Given the description of an element on the screen output the (x, y) to click on. 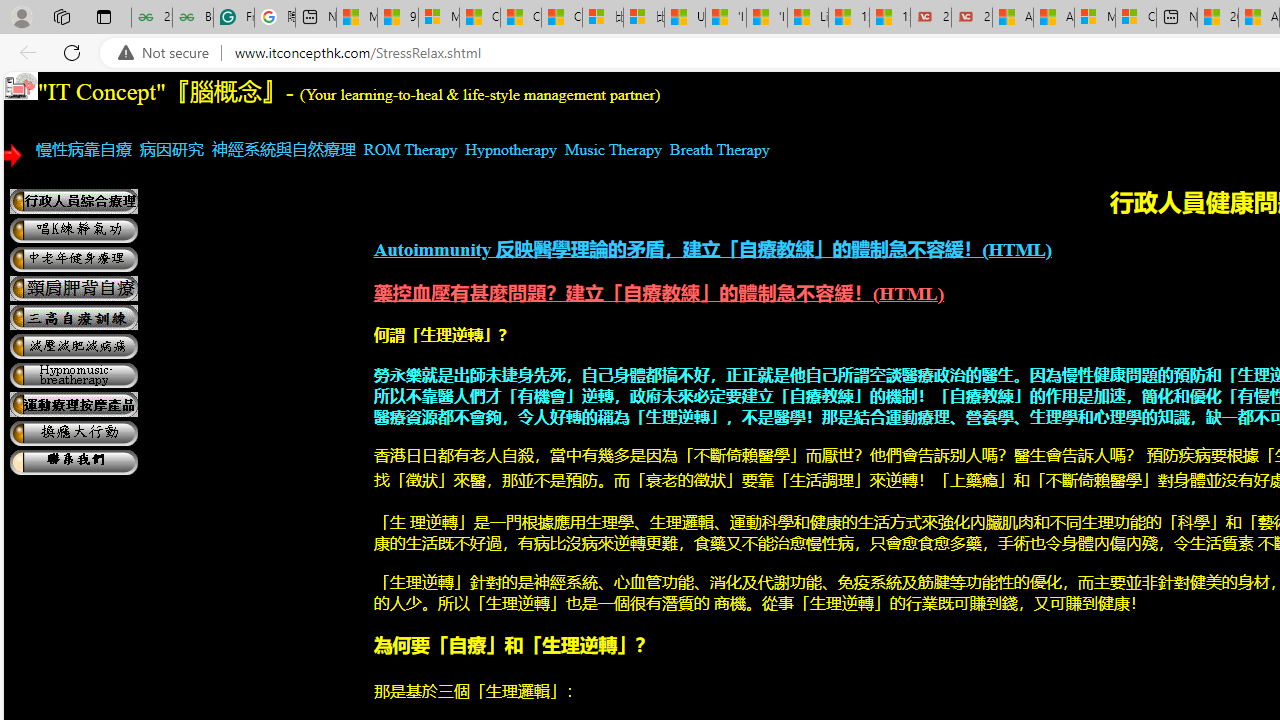
ROM Therapy (410, 149)
25 Basic Linux Commands For Beginners - GeeksforGeeks (151, 17)
15 Ways Modern Life Contradicts the Teachings of Jesus (890, 17)
21 Movies That Outdid the Books They Were Based On (971, 17)
Music Therapy (613, 149)
